Given the description of an element on the screen output the (x, y) to click on. 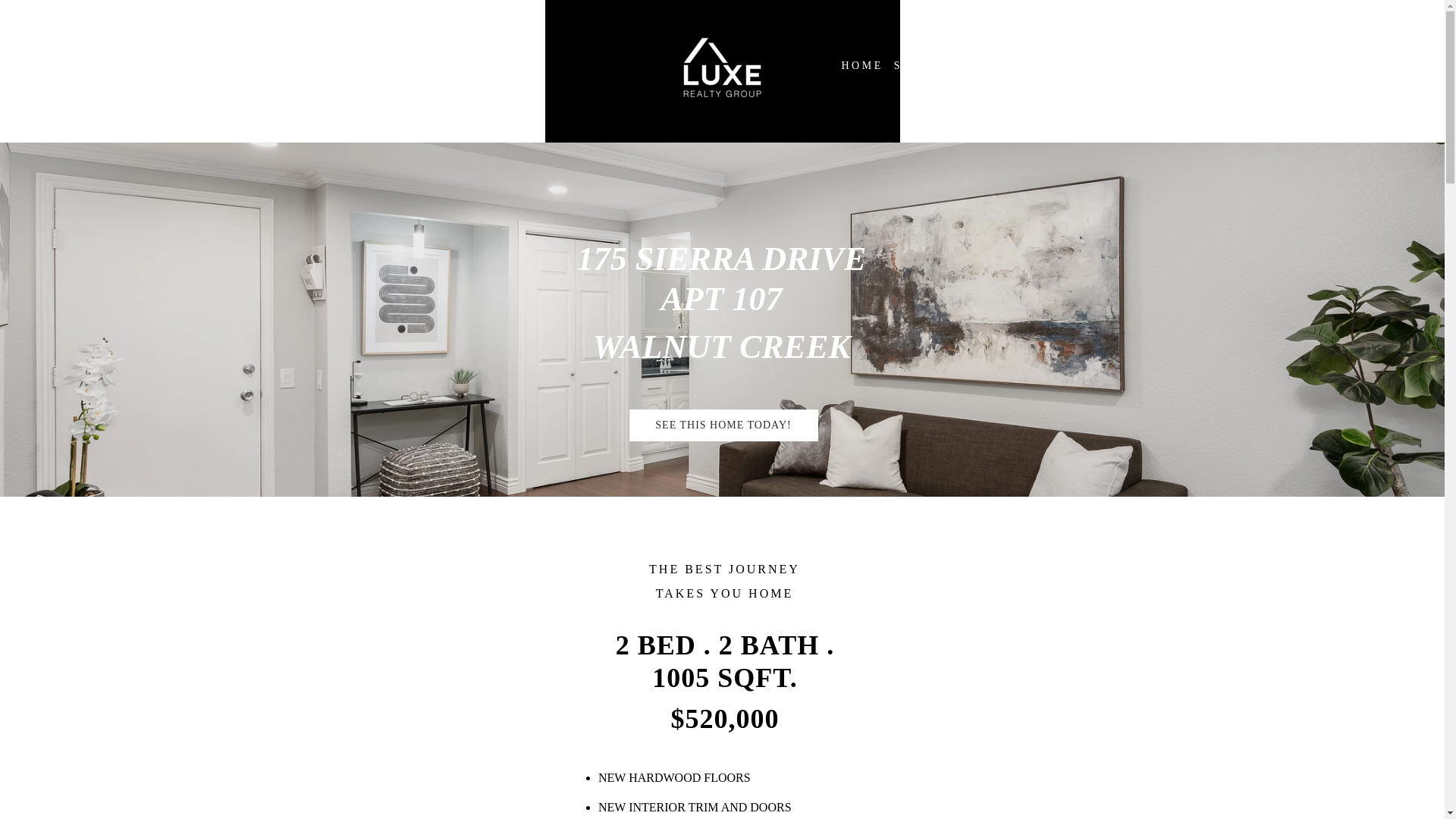
S E R V I C E S (935, 66)
H O M E (860, 66)
SEE THIS HOME TODAY! (723, 425)
Luxe   Logo Final White copy (722, 68)
